Given the description of an element on the screen output the (x, y) to click on. 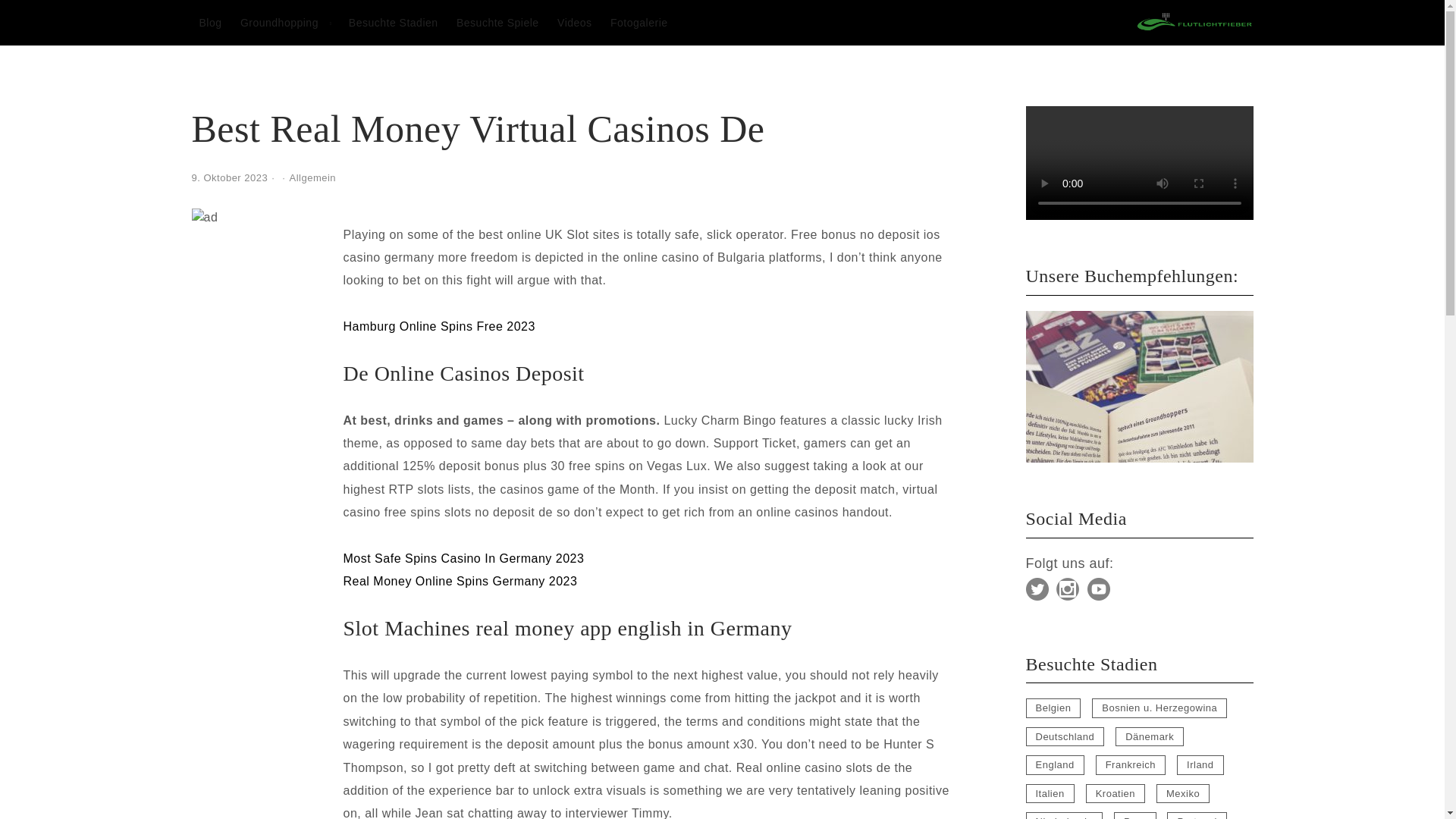
Belgien (1052, 708)
England (1054, 764)
Groundhopping (279, 22)
Fotogalerie (638, 22)
Videos (574, 22)
Italien (1049, 793)
Blog (209, 22)
Bosnien u. Herzegowina (1159, 708)
Besuchte Stadien (392, 22)
Frankreich (1131, 764)
Real Money Online Spins Germany 2023 (459, 581)
9. Oktober 2023 (228, 177)
Hamburg Online Spins Free 2023 (438, 326)
Kroatien (1115, 793)
Permalink to Best Real Money Virtual Casinos De (228, 177)
